Given the description of an element on the screen output the (x, y) to click on. 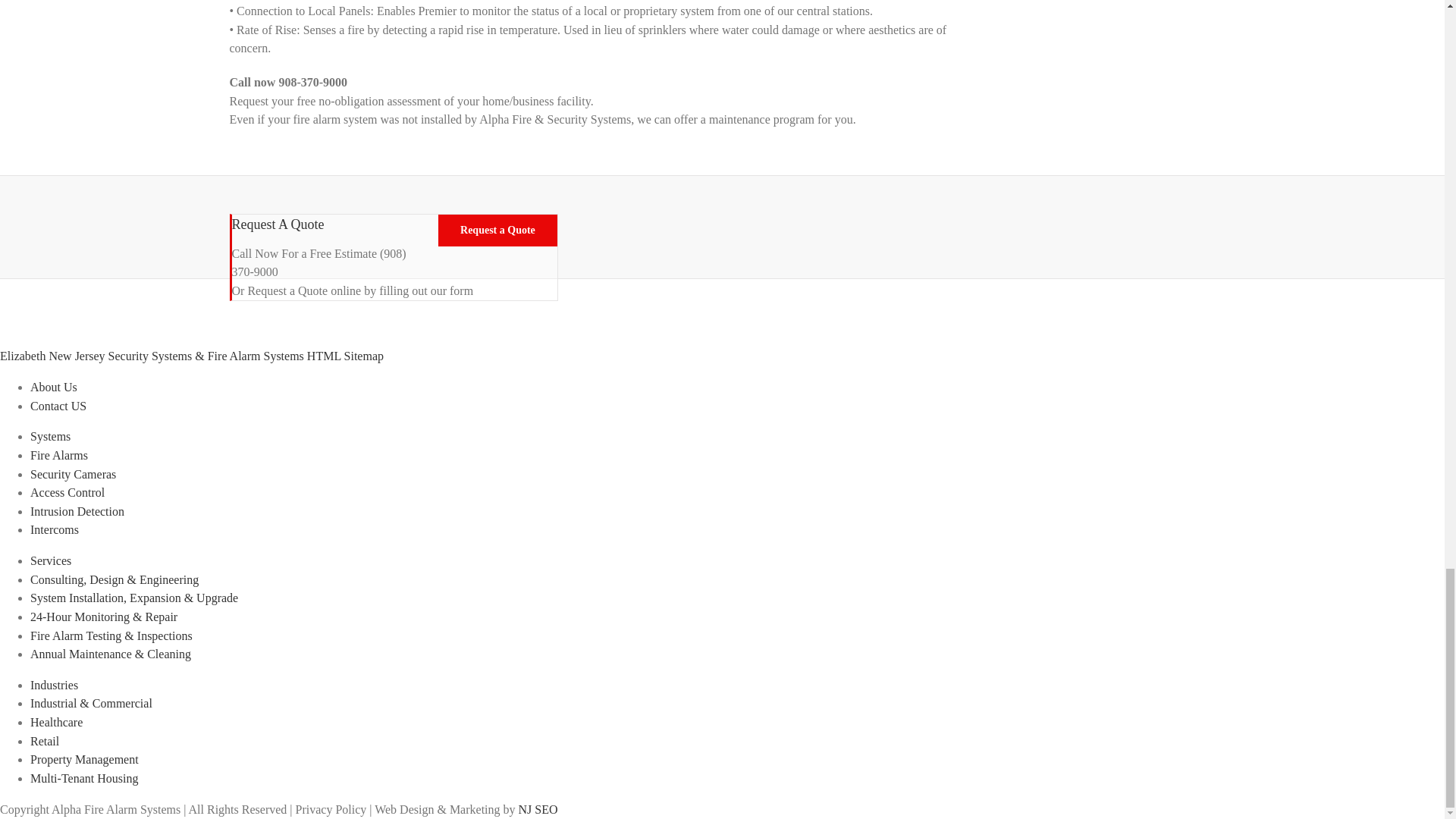
Request a Quote (497, 230)
About Us (53, 386)
Contact US (57, 405)
